Given the description of an element on the screen output the (x, y) to click on. 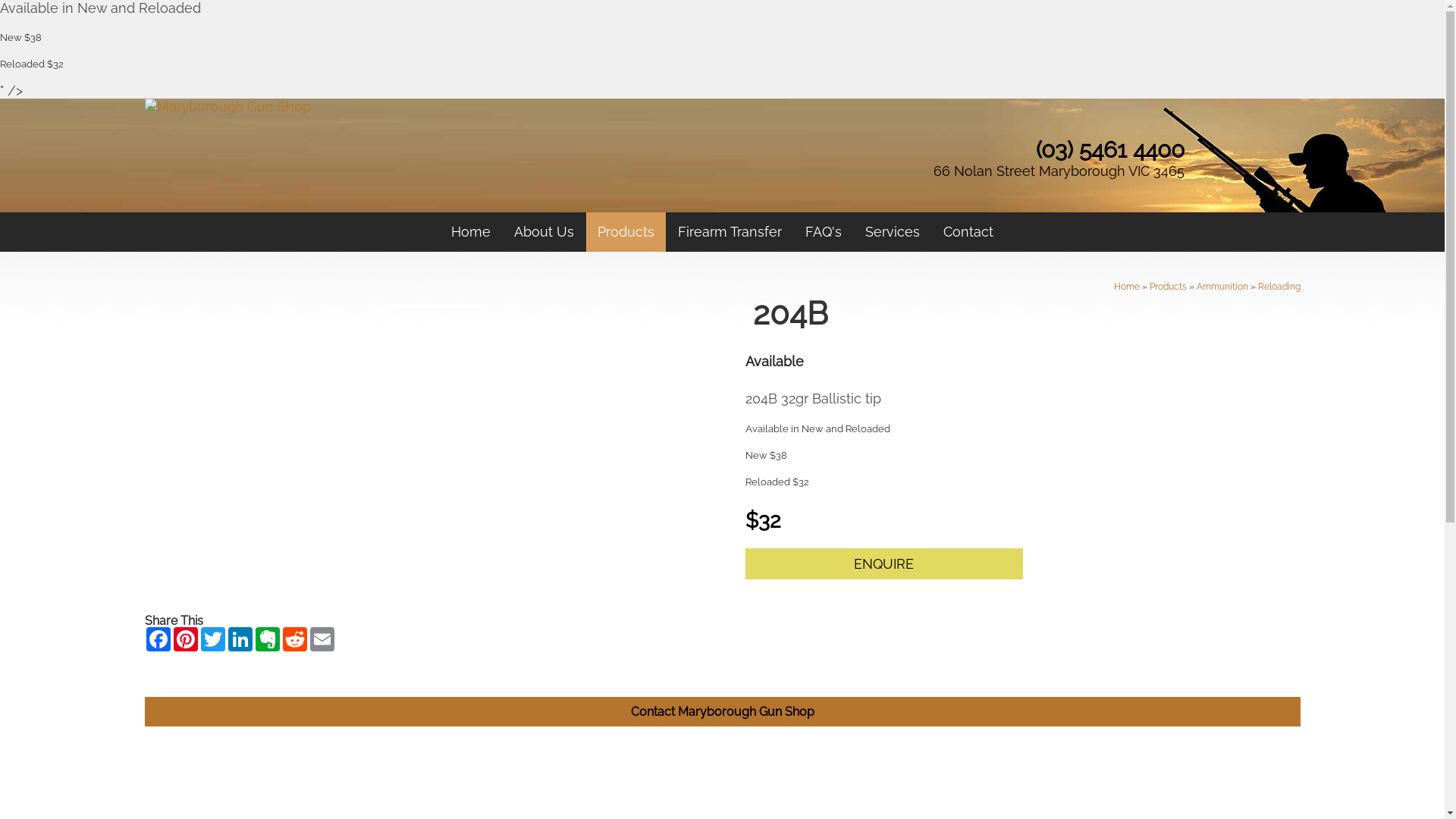
Services Element type: text (892, 231)
(03) 5461 4400 Element type: text (1109, 149)
FAQ's Element type: text (823, 231)
About Us Element type: text (543, 231)
Home Element type: text (470, 231)
Contact Maryborough Gun Shop Element type: text (722, 711)
Contact Element type: text (967, 231)
Firearm Transfer Element type: text (729, 231)
Home Element type: text (1126, 286)
Reloading Element type: text (1278, 286)
Products Element type: text (625, 231)
Products Element type: text (1167, 286)
Maryborough Gun Shop Element type: hover (227, 106)
66 Nolan Street Maryborough VIC 3465 Element type: text (1058, 170)
Ammunition Element type: text (1222, 286)
ENQUIRE Element type: text (883, 563)
